Given the description of an element on the screen output the (x, y) to click on. 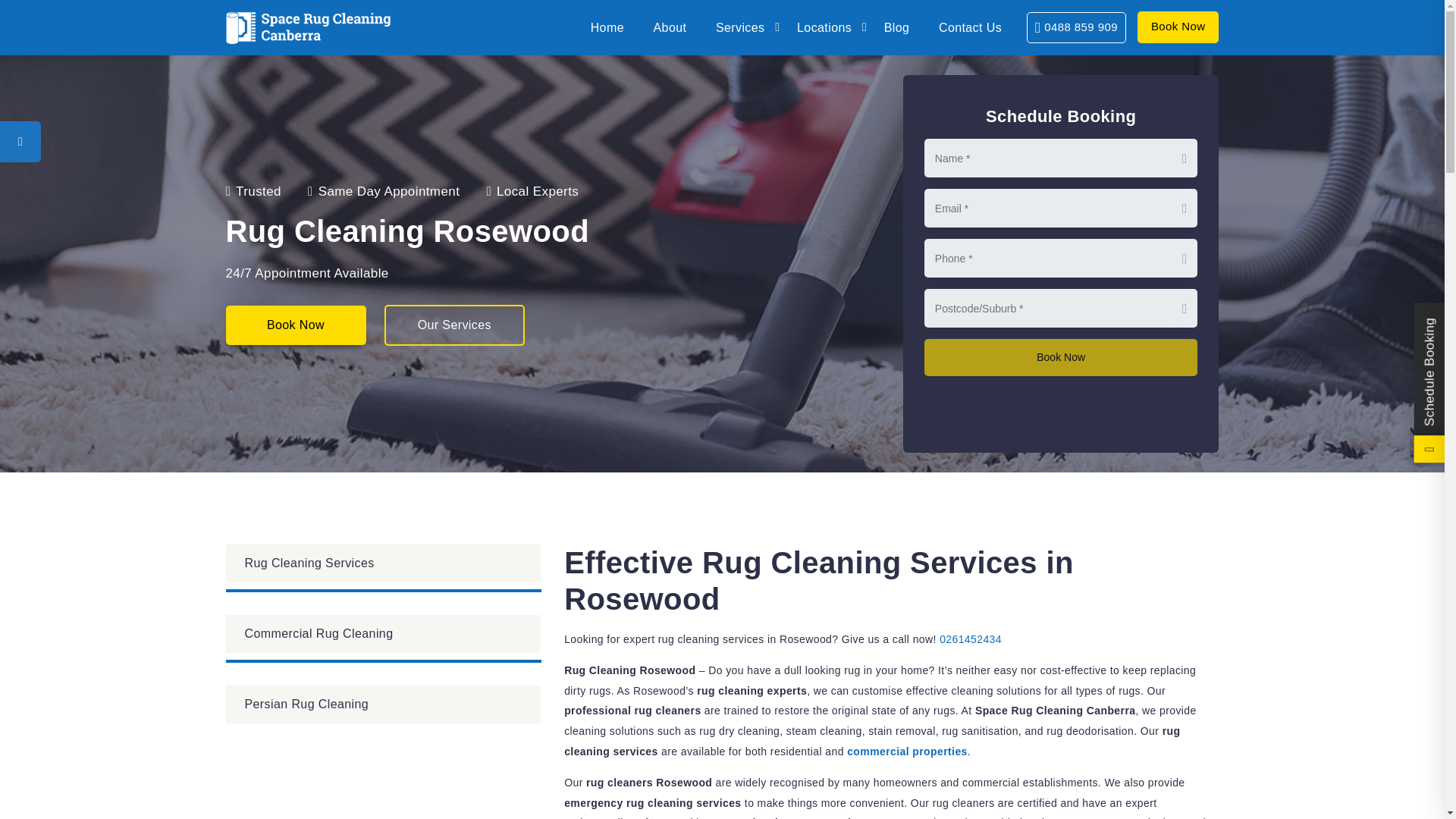
Book Now (1061, 357)
Book Now (295, 324)
Contact Us (969, 27)
About (670, 27)
Book Now (1061, 357)
0488 859 909 (1075, 27)
Rug Cleaning Services (383, 563)
Blog (896, 27)
Services (741, 27)
Persian Rug Cleaning (383, 704)
Home (607, 27)
Book Now (1178, 27)
commercial properties (907, 751)
Commercial Rug Cleaning (383, 634)
Locations (825, 27)
